Given the description of an element on the screen output the (x, y) to click on. 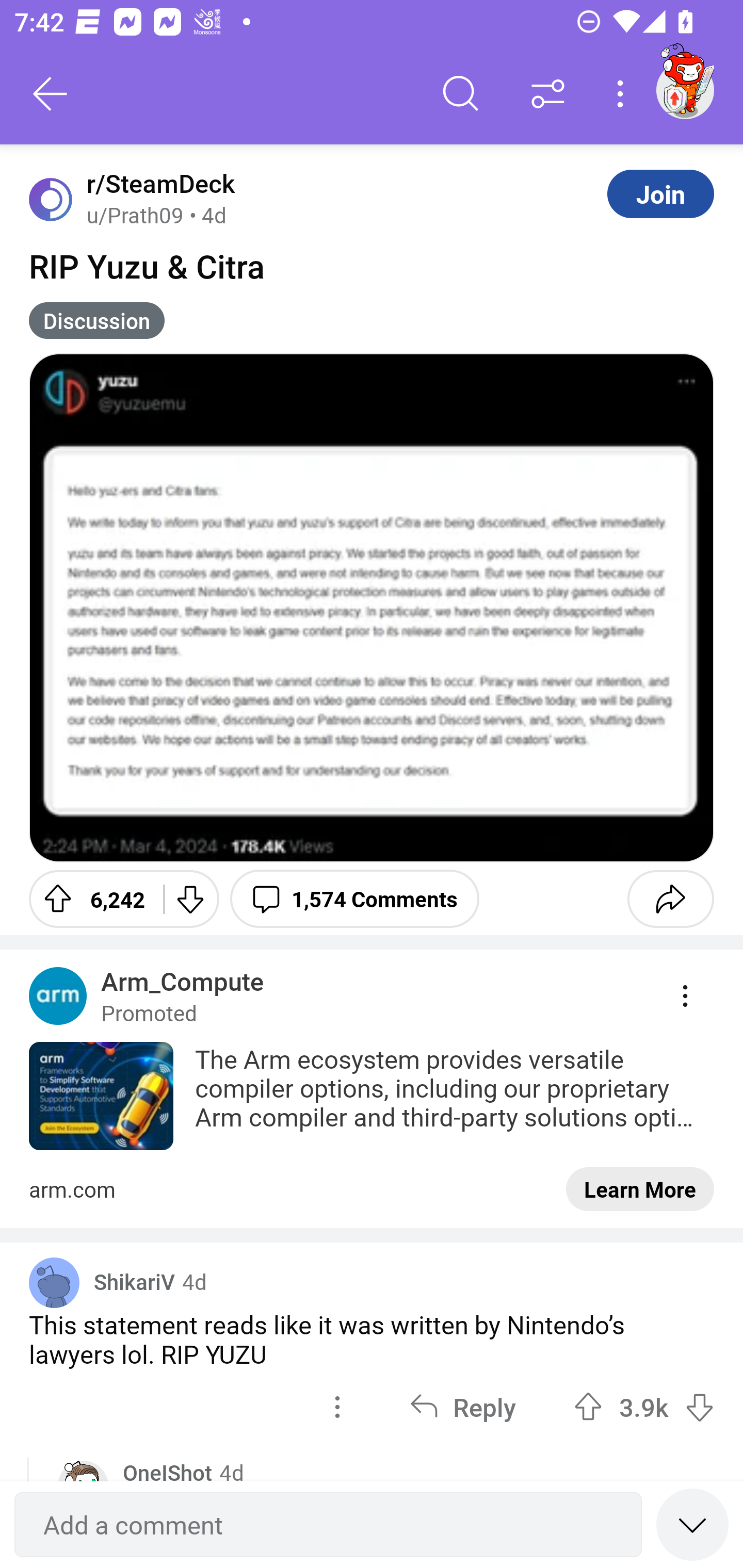
Back (50, 93)
TestAppium002 account (685, 90)
Search comments (460, 93)
Sort comments (547, 93)
More options (623, 93)
r/SteamDeck (157, 183)
Join (660, 193)
Avatar (50, 199)
Discussion (96, 320)
Image (371, 607)
Upvote 6,242 (88, 898)
Downvote (189, 898)
1,574 Comments (354, 898)
Share (670, 898)
Avatar (53, 1282)
options (337, 1406)
Reply (462, 1406)
Upvote 3.9k 3906 votes Downvote (643, 1406)
Speed read (692, 1524)
Add a comment (327, 1524)
